Given the description of an element on the screen output the (x, y) to click on. 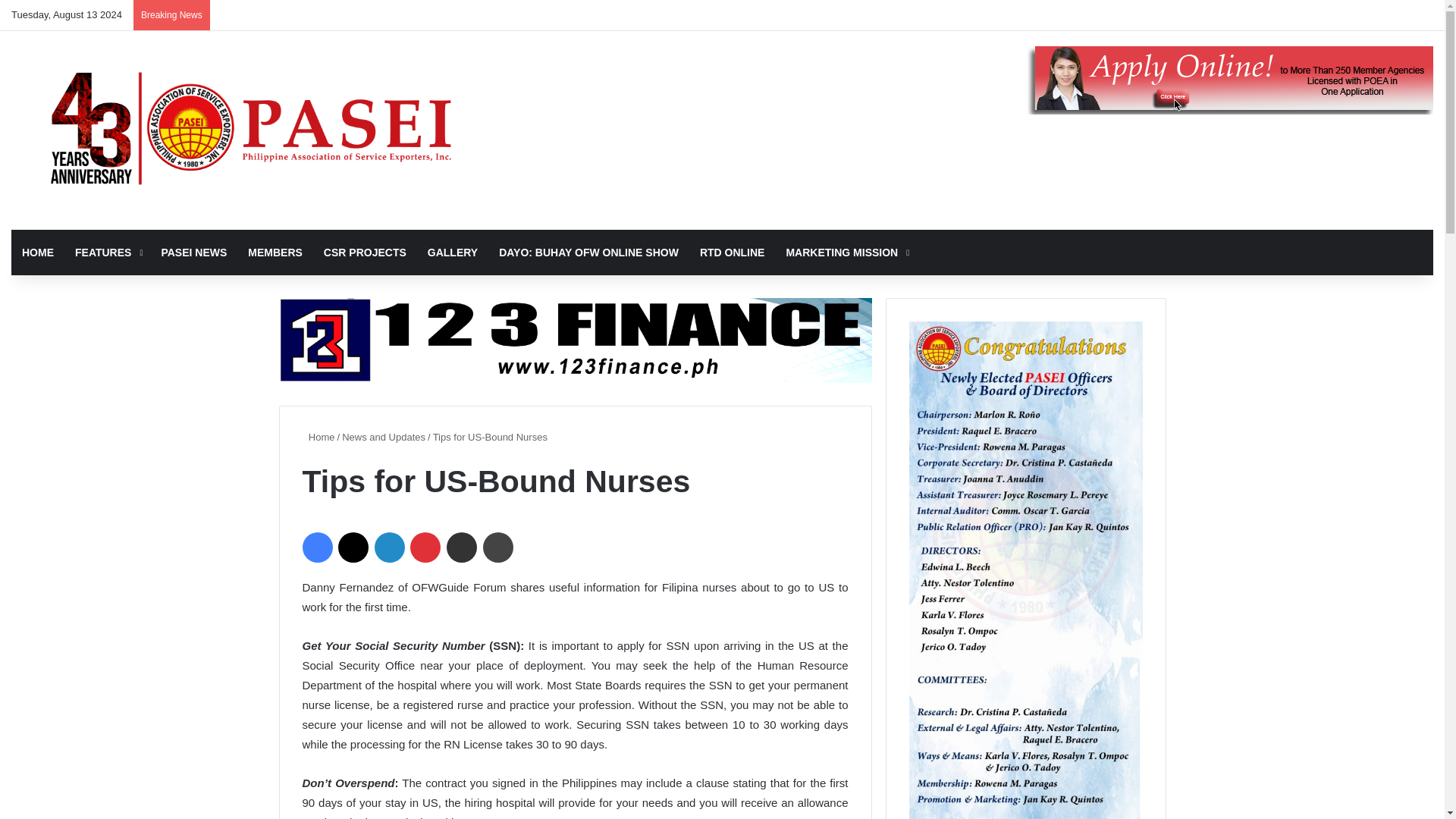
Share via Email (461, 547)
LinkedIn (389, 547)
GALLERY (451, 252)
X (352, 547)
Pinterest (425, 547)
MARKETING MISSION (845, 252)
FEATURES (106, 252)
DAYO: BUHAY OFW ONLINE SHOW (587, 252)
PASEI NEWS (193, 252)
Print (498, 547)
